Given the description of an element on the screen output the (x, y) to click on. 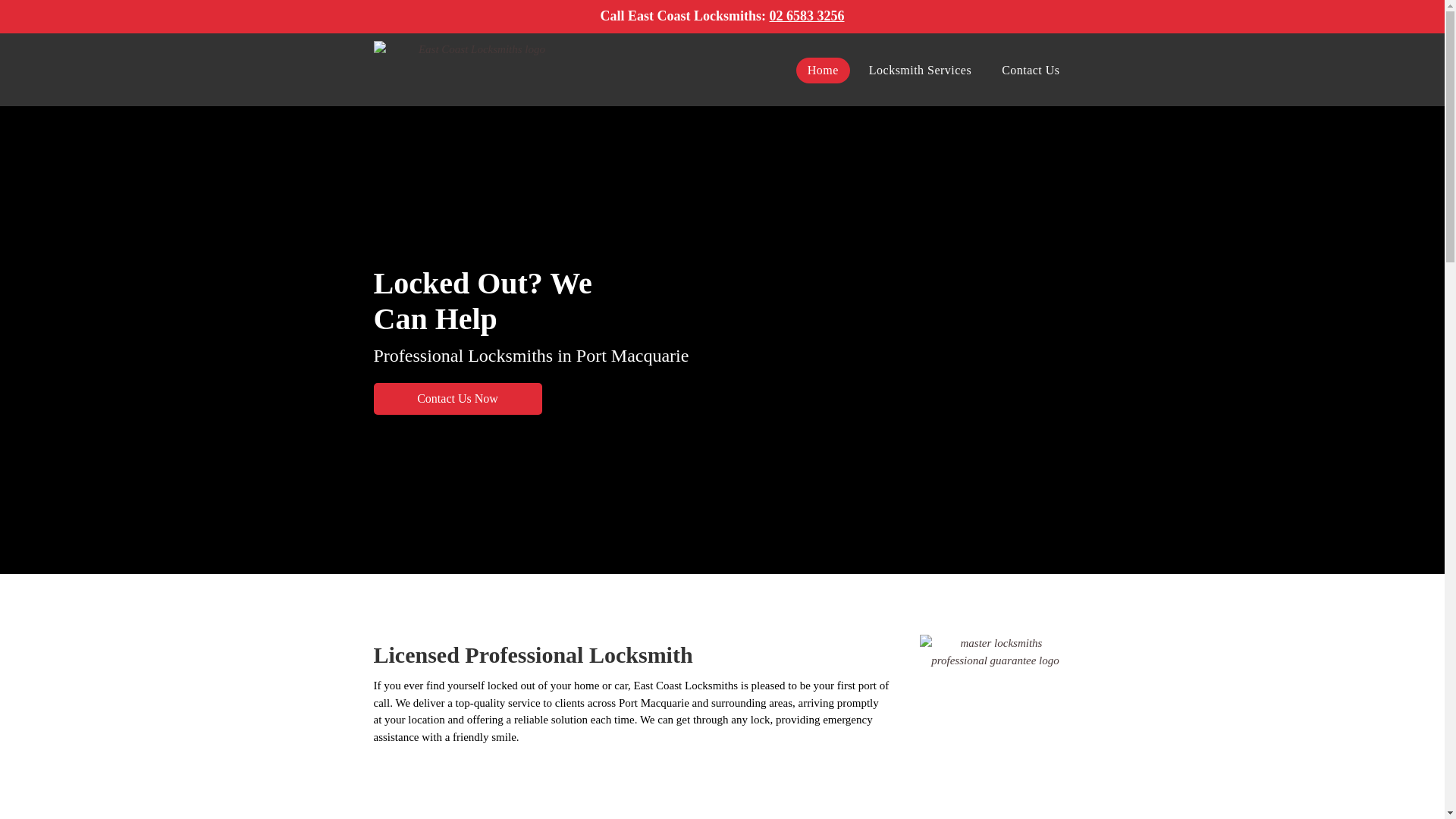
Contact Us Now Element type: text (457, 398)
Locksmith Services Element type: text (919, 70)
02 6583 3256 Element type: text (806, 15)
Contact Us Element type: text (1030, 70)
Home Element type: text (823, 70)
